Given the description of an element on the screen output the (x, y) to click on. 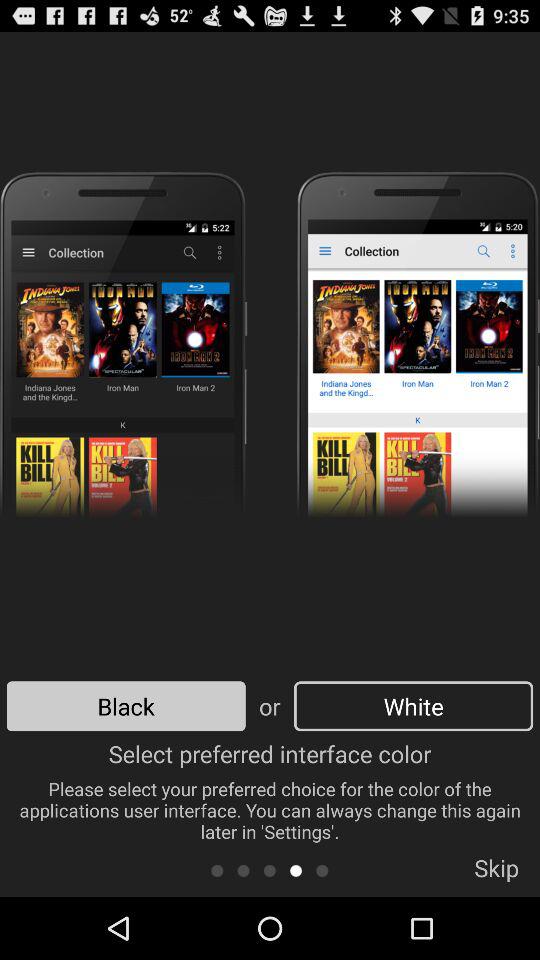
select app below select preferred interface item (295, 870)
